Given the description of an element on the screen output the (x, y) to click on. 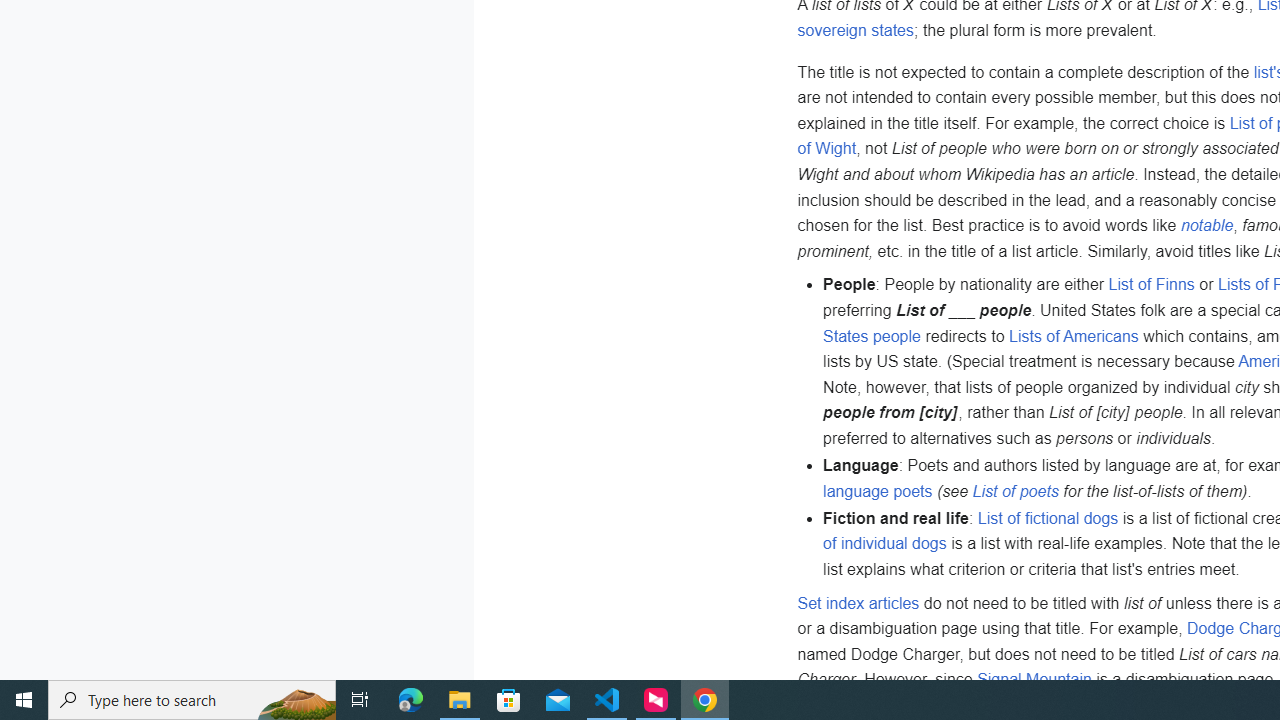
Set index articles (858, 603)
Signal Mountain (1033, 680)
List of fictional dogs (1047, 518)
Lists of Americans (1073, 335)
List of Finns (1151, 284)
List of poets (1014, 490)
notable (1206, 225)
